Given the description of an element on the screen output the (x, y) to click on. 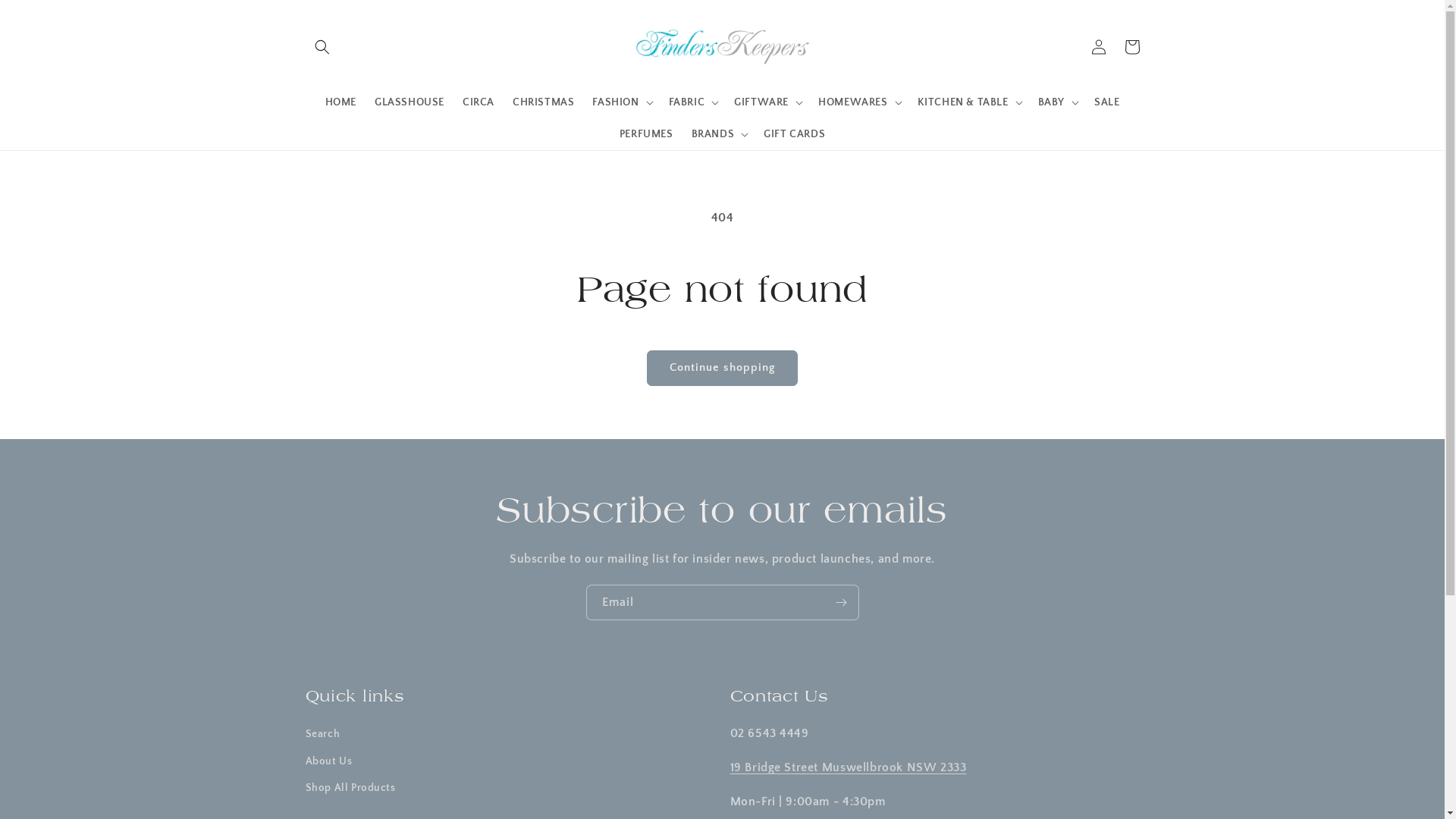
About Us Element type: text (327, 761)
19 Bridge Street Muswellbrook NSW 2333 Element type: text (847, 767)
Log in Element type: text (1097, 46)
GIFT CARDS Element type: text (794, 134)
Shop All Products Element type: text (349, 788)
HOME Element type: text (340, 102)
Continue shopping Element type: text (721, 367)
PERFUMES Element type: text (646, 134)
SALE Element type: text (1106, 102)
GLASSHOUSE Element type: text (409, 102)
Cart Element type: text (1131, 46)
Search Element type: text (321, 735)
CIRCA Element type: text (478, 102)
CHRISTMAS Element type: text (543, 102)
